Given the description of an element on the screen output the (x, y) to click on. 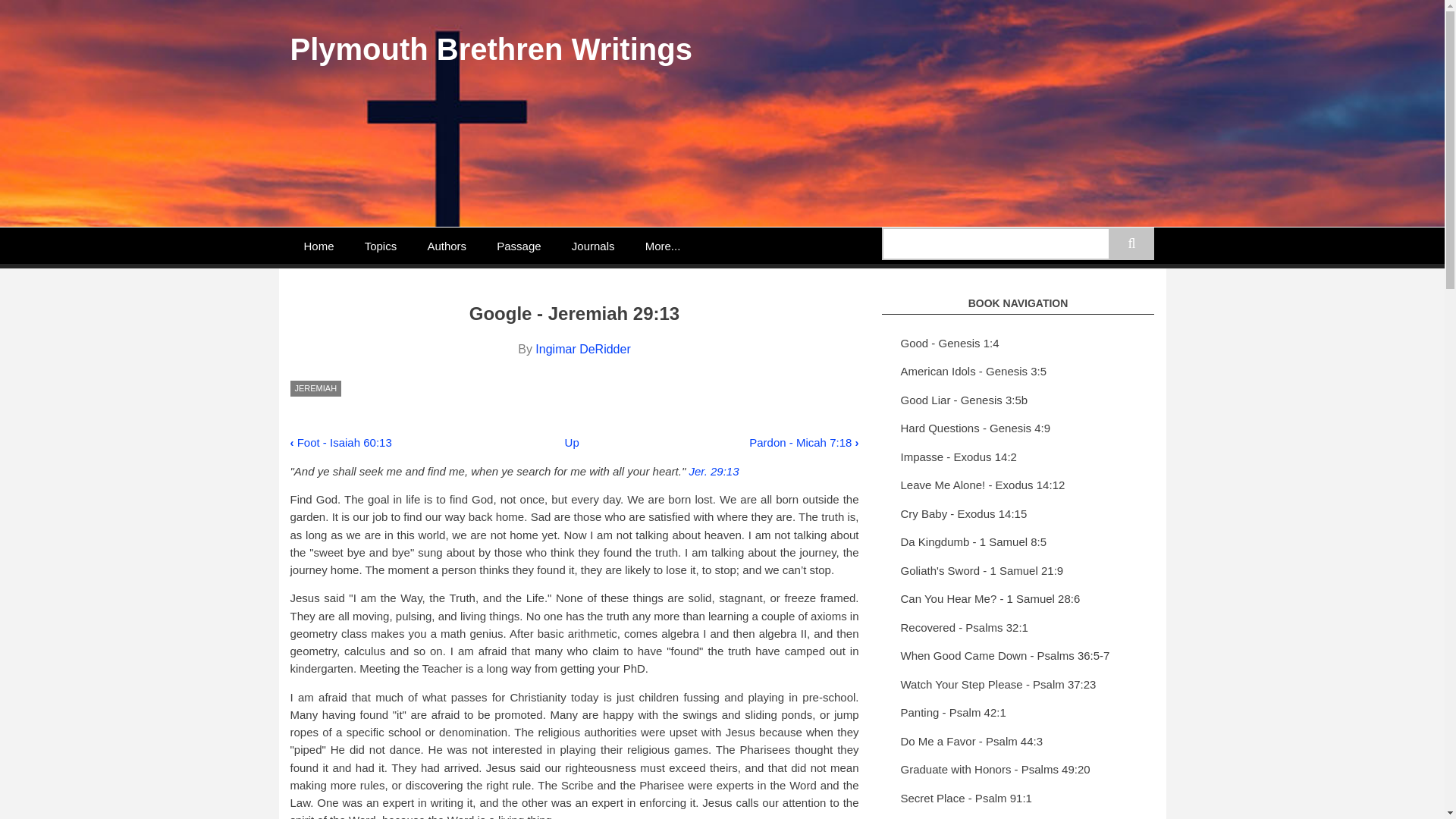
When Good Came Down - Psalms 36:5-7 (1017, 656)
Do Me a Favor - Psalm 44:3 (1017, 742)
Authors (446, 245)
Home (318, 245)
Home (490, 49)
Topics (380, 245)
Hard Questions - Genesis 4:9 (1017, 428)
Up (571, 441)
Search (1131, 243)
Go to next page (804, 441)
Journals (592, 245)
Leave Me Alone! - Exodus 14:12 (1017, 485)
Cry Baby - Exodus 14:15 (1017, 514)
Watch Your Step Please - Psalm 37:23 (1017, 685)
Da Kingdumb - 1 Samuel 8:5 (1017, 542)
